Given the description of an element on the screen output the (x, y) to click on. 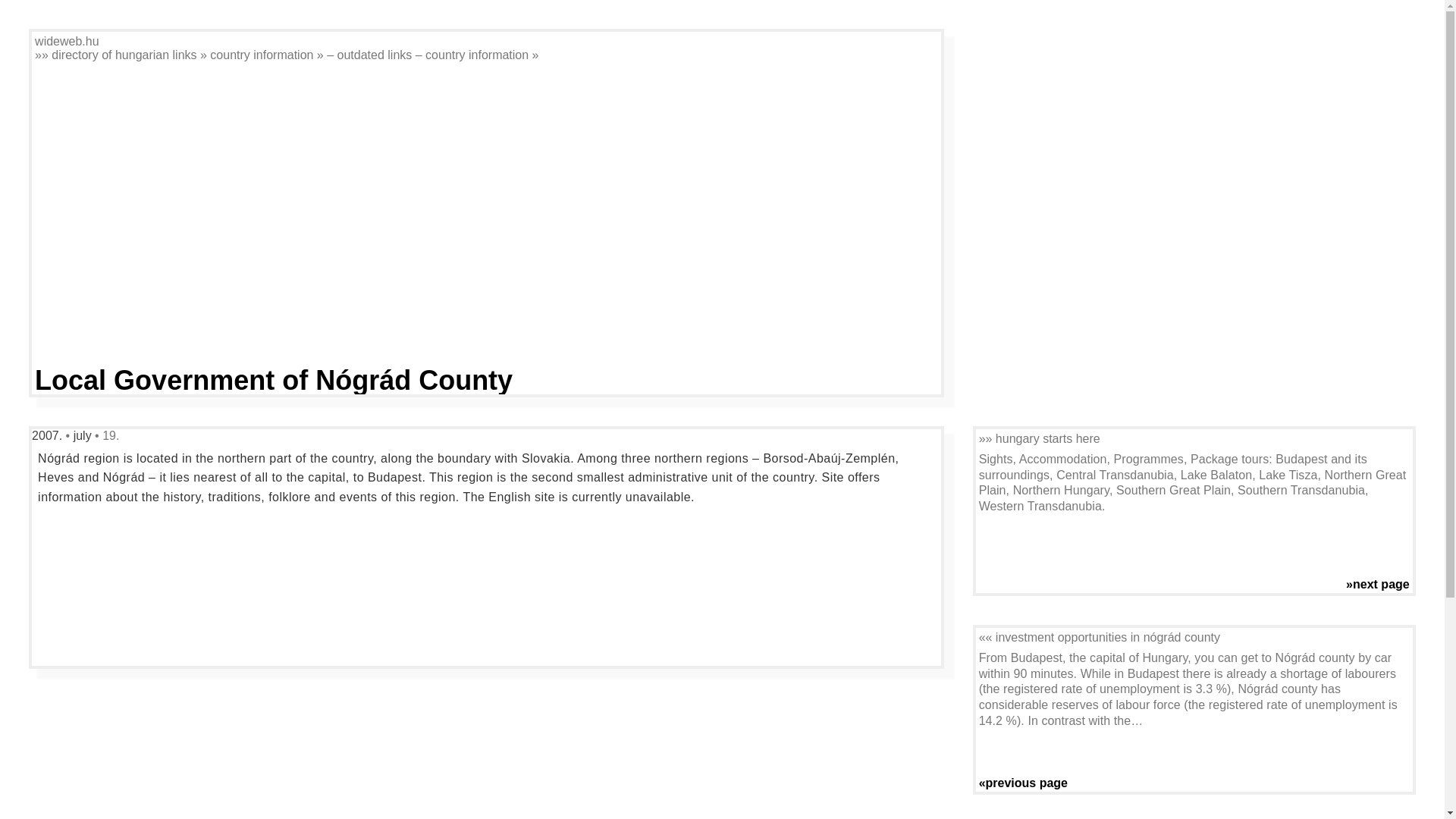
directory of hungarian links (123, 54)
country information (261, 54)
july (84, 435)
2007. (48, 435)
wideweb.hu (66, 41)
Wideweb.hu (66, 41)
